Given the description of an element on the screen output the (x, y) to click on. 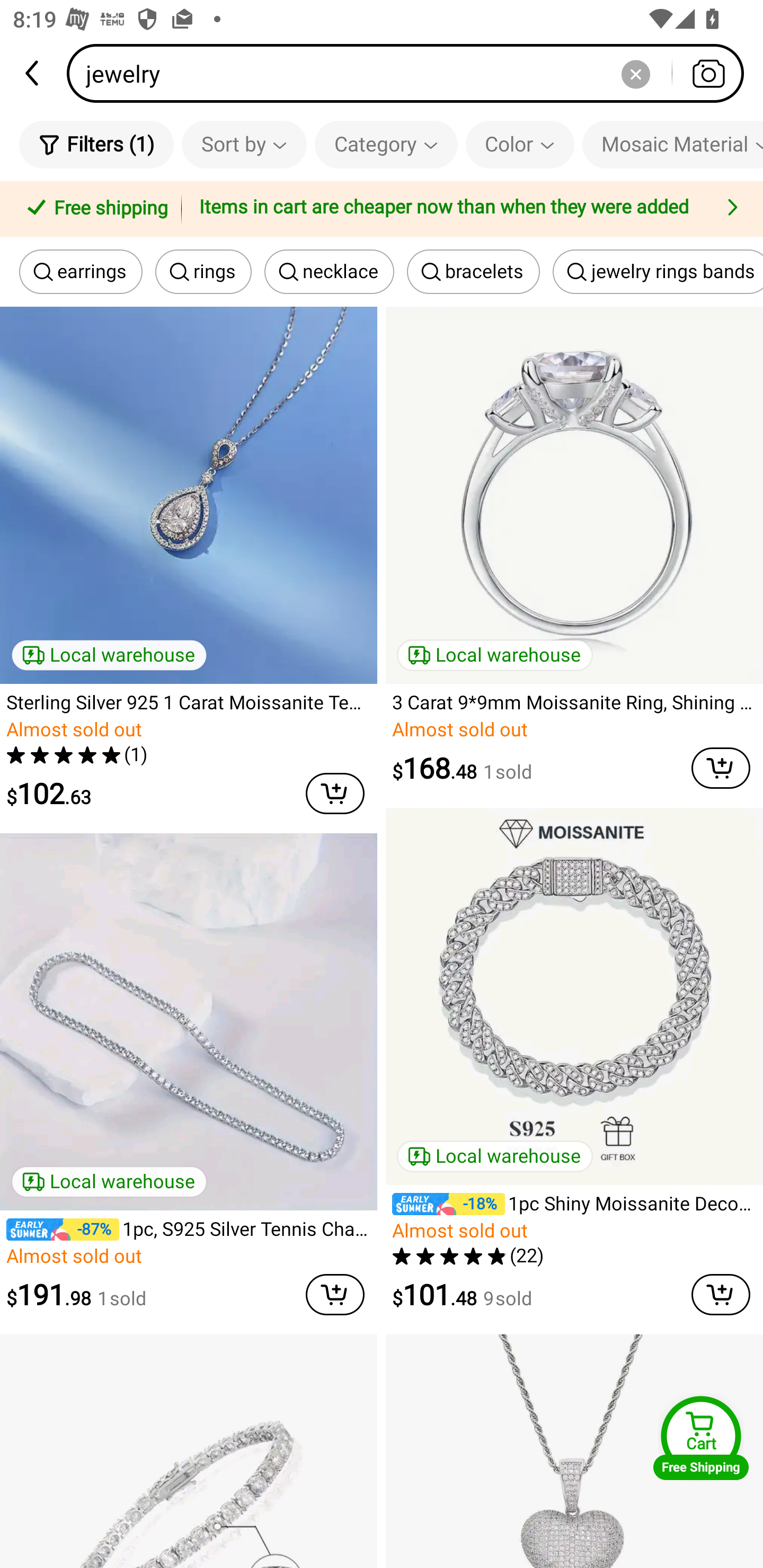
back (33, 72)
jewelry (411, 73)
Delete search history (635, 73)
Search by photo (708, 73)
Filters (1) (96, 143)
Sort by (243, 143)
Category (385, 143)
Color (519, 143)
Mosaic Material (672, 143)
 Free shipping (93, 208)
earrings (80, 271)
rings (202, 271)
necklace (329, 271)
bracelets (473, 271)
jewelry rings bands (657, 271)
